Given the description of an element on the screen output the (x, y) to click on. 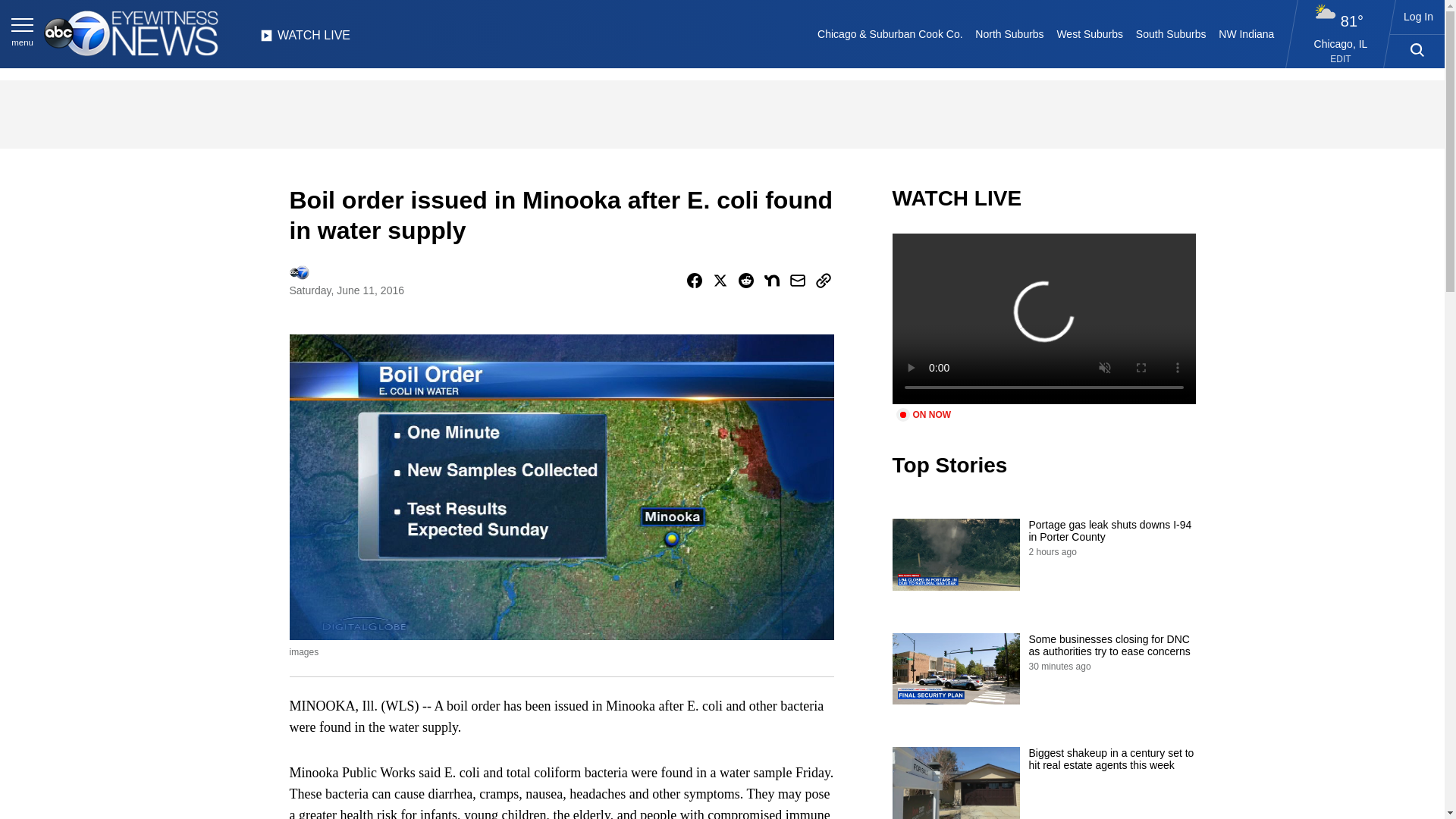
West Suburbs (1089, 33)
EDIT (1340, 59)
South Suburbs (1170, 33)
video.title (1043, 318)
WATCH LIVE (305, 39)
Chicago, IL (1340, 43)
NW Indiana (1246, 33)
North Suburbs (1009, 33)
